Given the description of an element on the screen output the (x, y) to click on. 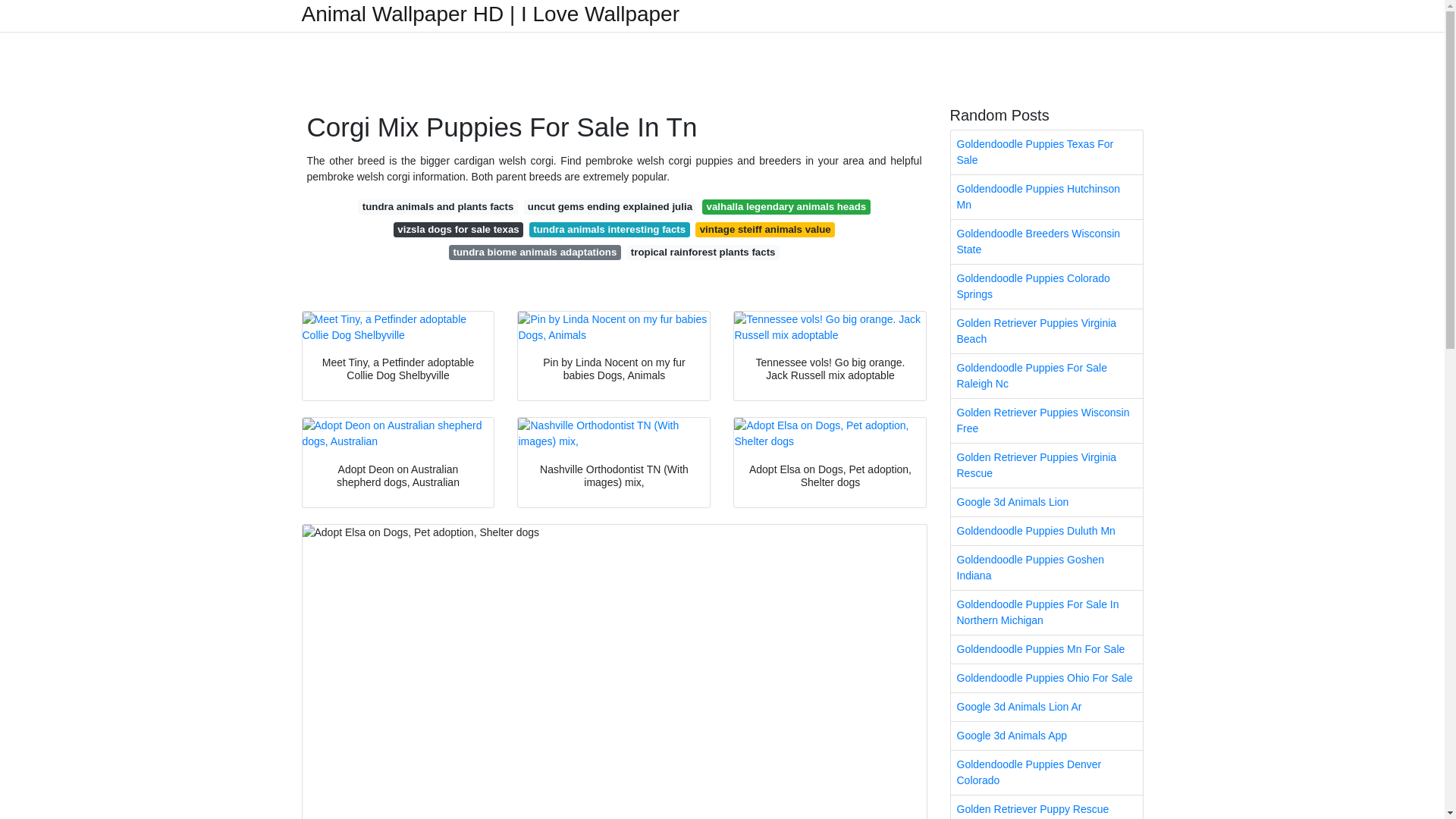
tundra animals interesting facts (609, 229)
uncut gems ending explained julia (608, 206)
Goldendoodle Puppies Texas For Sale (1046, 152)
Goldendoodle Puppies Colorado Springs (1046, 286)
vintage steiff animals value (764, 229)
Goldendoodle Puppies For Sale Raleigh Nc (1046, 375)
Golden Retriever Puppies Virginia Beach (1046, 330)
tropical rainforest plants facts (702, 252)
Goldendoodle Breeders Wisconsin State (1046, 241)
Google 3d Animals Lion (1046, 502)
